Given the description of an element on the screen output the (x, y) to click on. 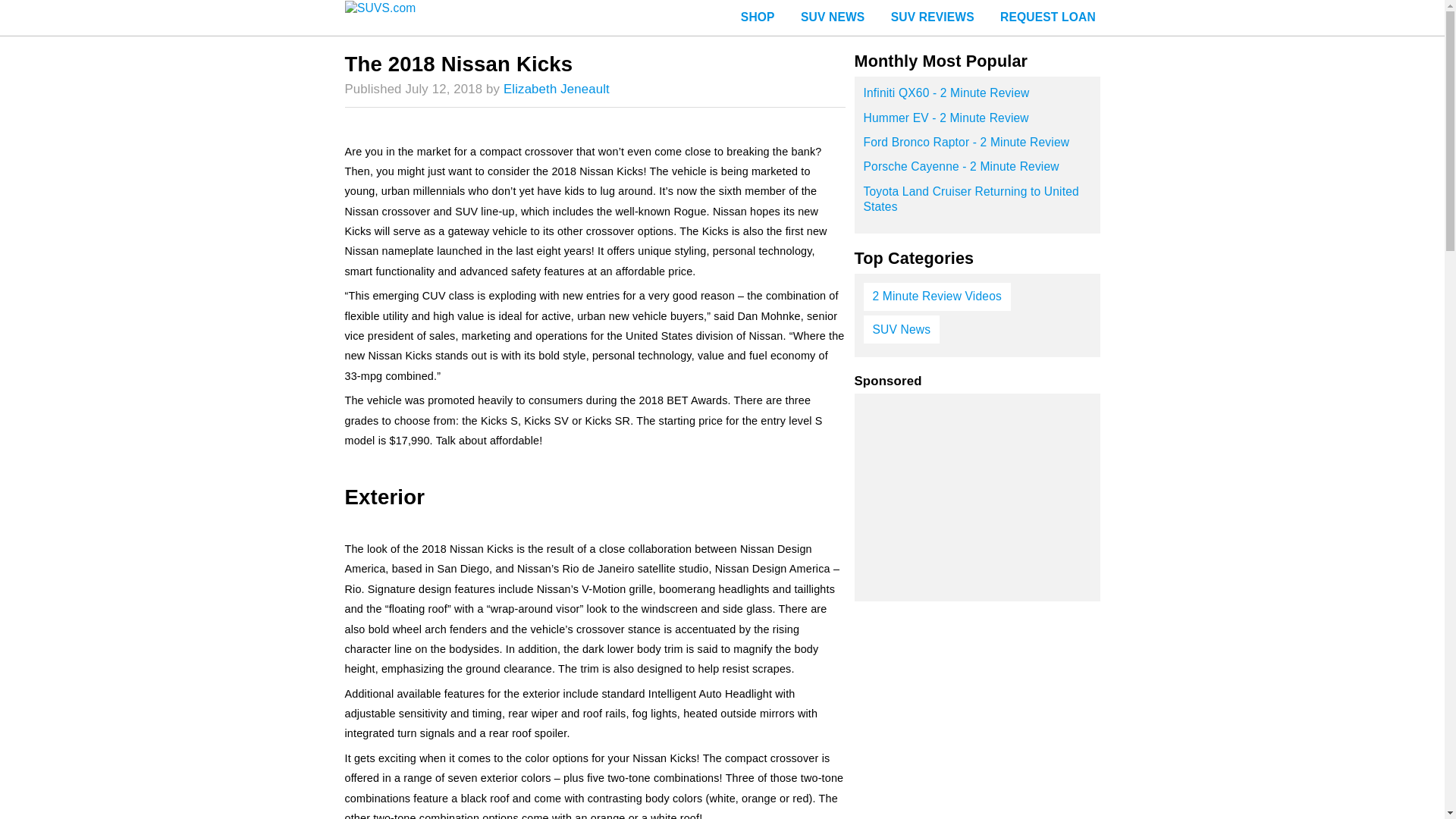
REQUEST LOAN (1047, 18)
SUV REVIEWS (932, 18)
SUV News (901, 329)
SUV NEWS (832, 18)
Ford Bronco Raptor - 2 Minute Review (976, 146)
Infiniti QX60 - 2 Minute Review (976, 97)
Hummer EV - 2 Minute Review (976, 122)
2 Minute Review Videos (936, 296)
Toyota Land Cruiser Returning to United States (976, 204)
Elizabeth Jeneault (556, 88)
Porsche Cayenne - 2 Minute Review (976, 170)
SHOP (757, 18)
